Given the description of an element on the screen output the (x, y) to click on. 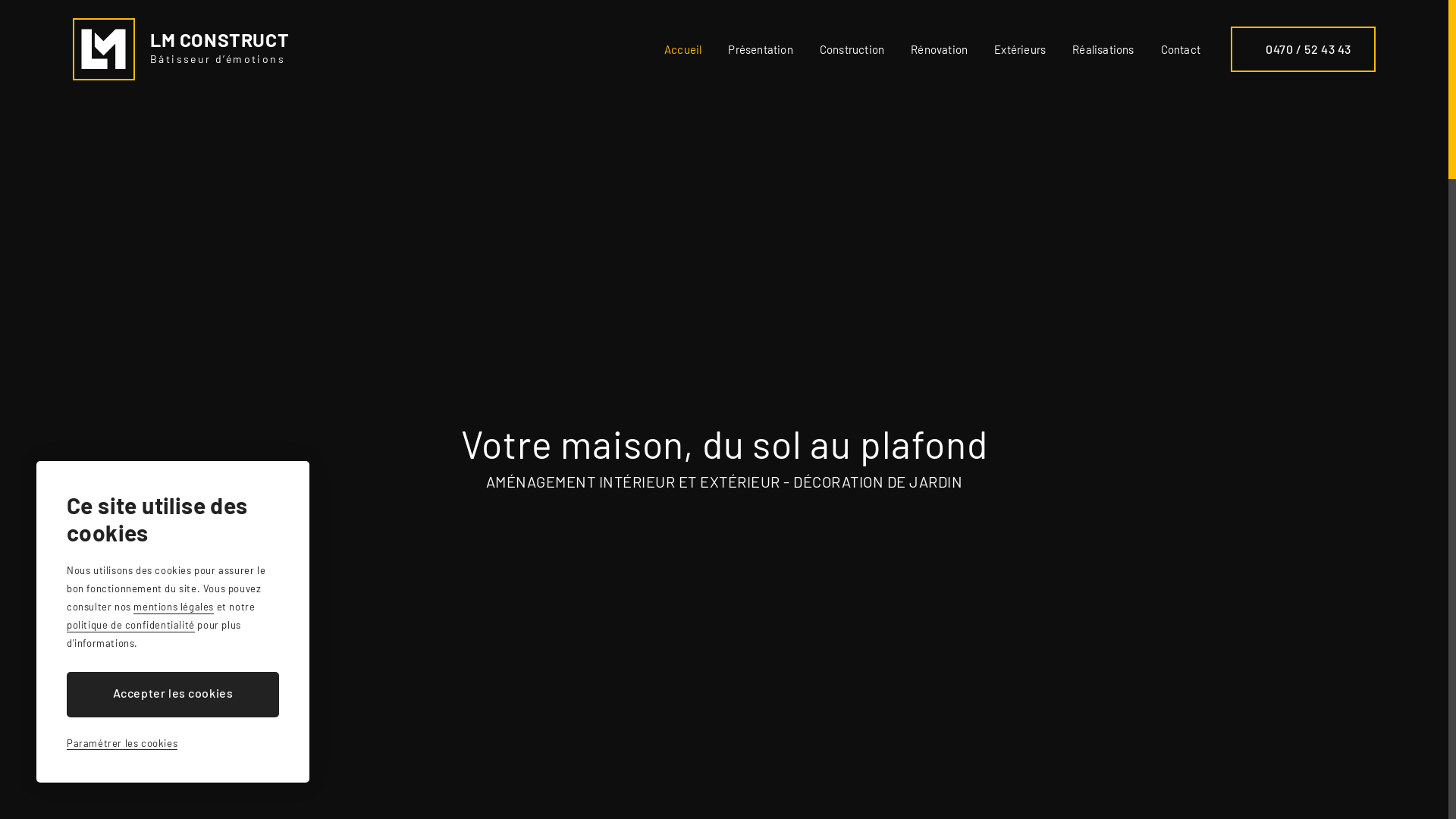
0470 / 52 43 43 Element type: text (1302, 49)
Contact Element type: text (1180, 49)
Construction Element type: text (851, 49)
Accueil Element type: text (682, 49)
